Given the description of an element on the screen output the (x, y) to click on. 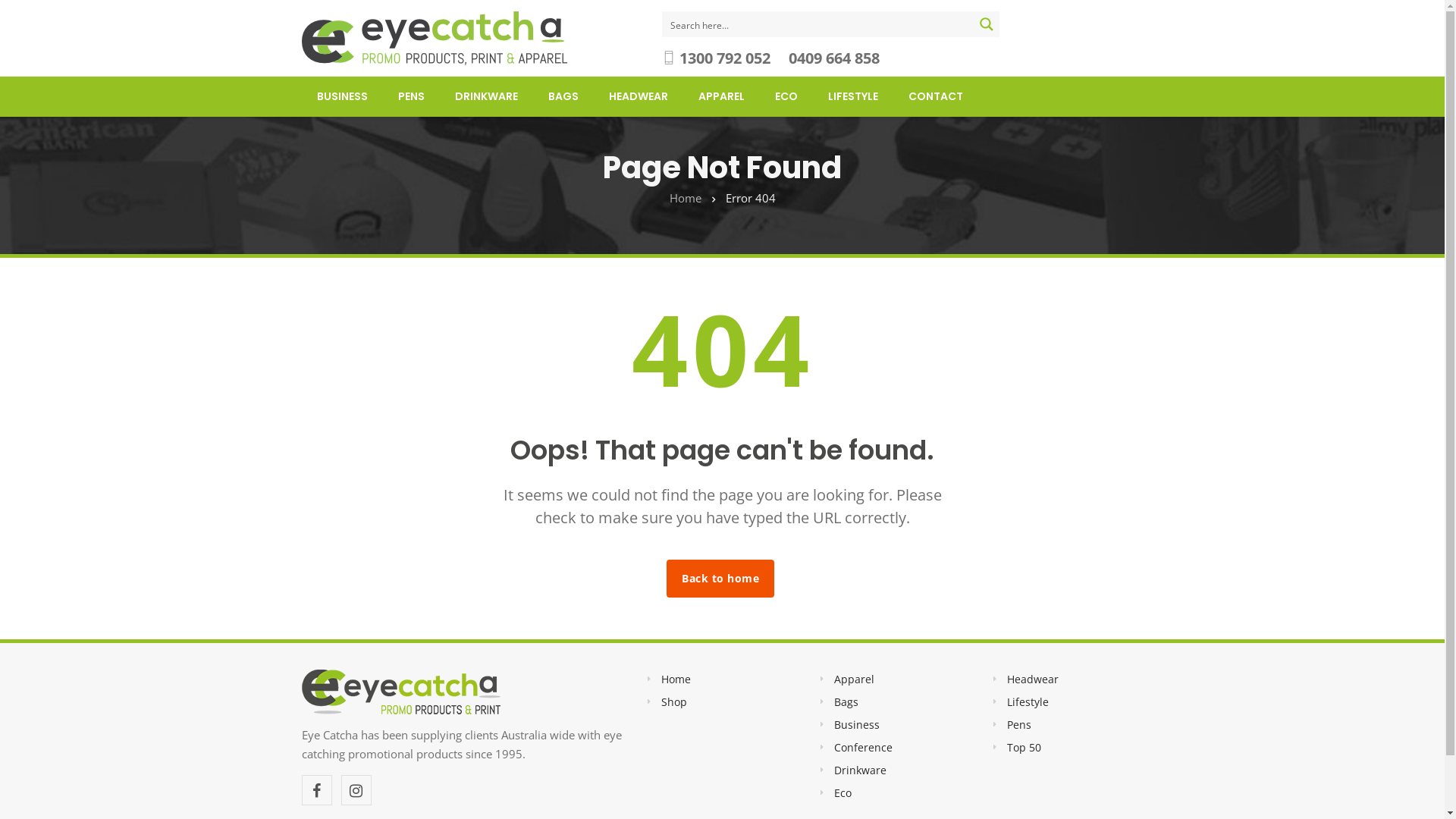
BAGS Element type: text (562, 95)
Business Element type: text (856, 725)
CONTACT Element type: text (935, 95)
Headwear Element type: text (1032, 679)
Back to home Element type: text (720, 578)
Home Element type: text (675, 679)
Home Element type: text (684, 197)
APPAREL Element type: text (720, 95)
BUSINESS Element type: text (341, 95)
Apparel Element type: text (854, 679)
Shop Element type: text (674, 702)
0409 664 858 Element type: text (833, 57)
Pens Element type: text (1019, 725)
LIFESTYLE Element type: text (852, 95)
Bags Element type: text (846, 702)
PENS Element type: text (410, 95)
ECO Element type: text (785, 95)
1300 792 052 Element type: text (724, 57)
Eco Element type: text (842, 793)
Conference Element type: text (863, 747)
Drinkware Element type: text (860, 770)
DRINKWARE Element type: text (486, 95)
Top 50 Element type: text (1024, 747)
HEADWEAR Element type: text (637, 95)
Lifestyle Element type: text (1027, 702)
